Given the description of an element on the screen output the (x, y) to click on. 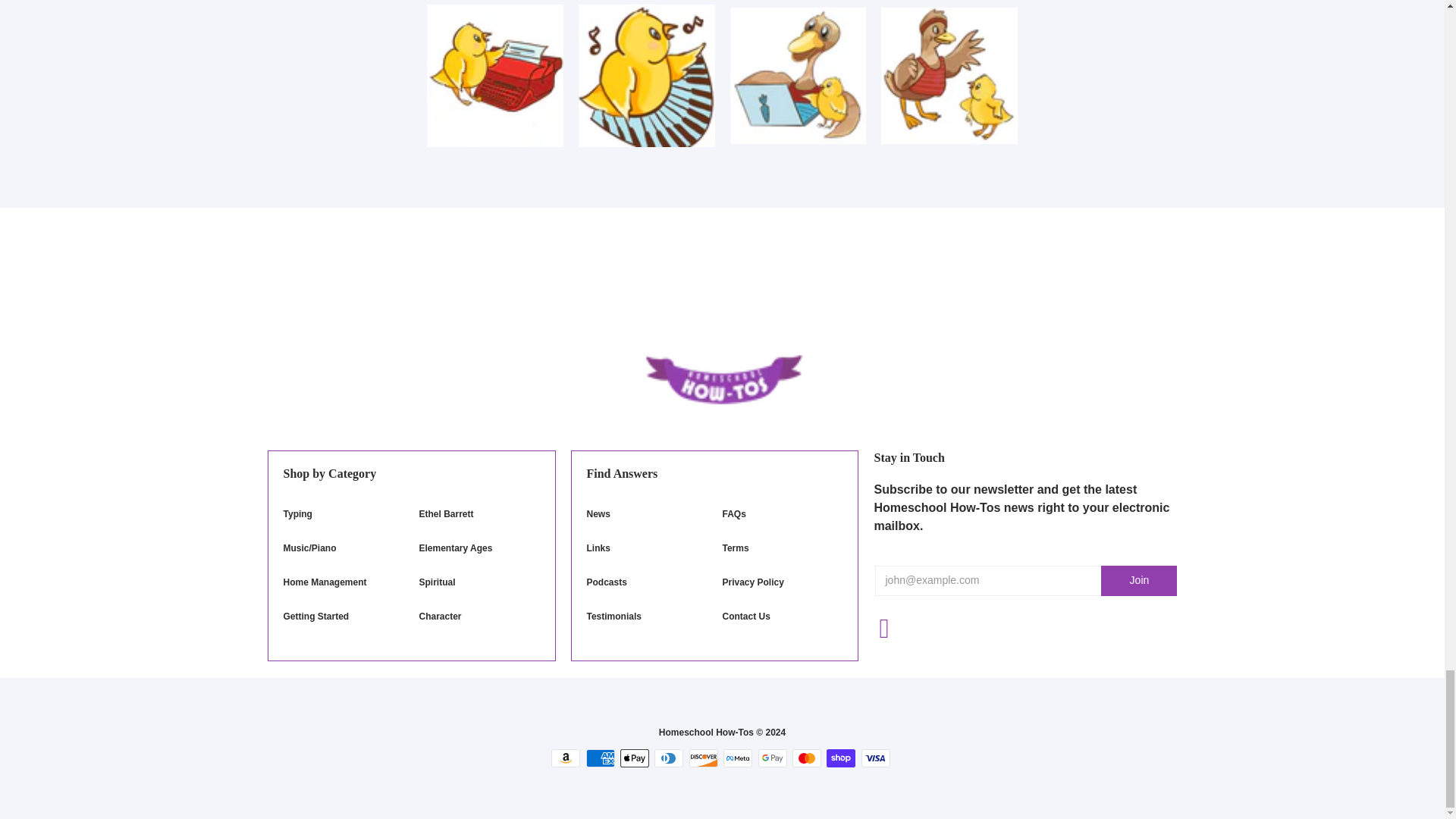
Diners Club (667, 758)
American Express (600, 758)
Discover (702, 758)
Meta Pay (737, 758)
Join (1138, 580)
Mastercard (806, 758)
Google Pay (772, 758)
Apple Pay (634, 758)
Amazon (565, 758)
Shop Pay (841, 758)
Visa (875, 758)
